Given the description of an element on the screen output the (x, y) to click on. 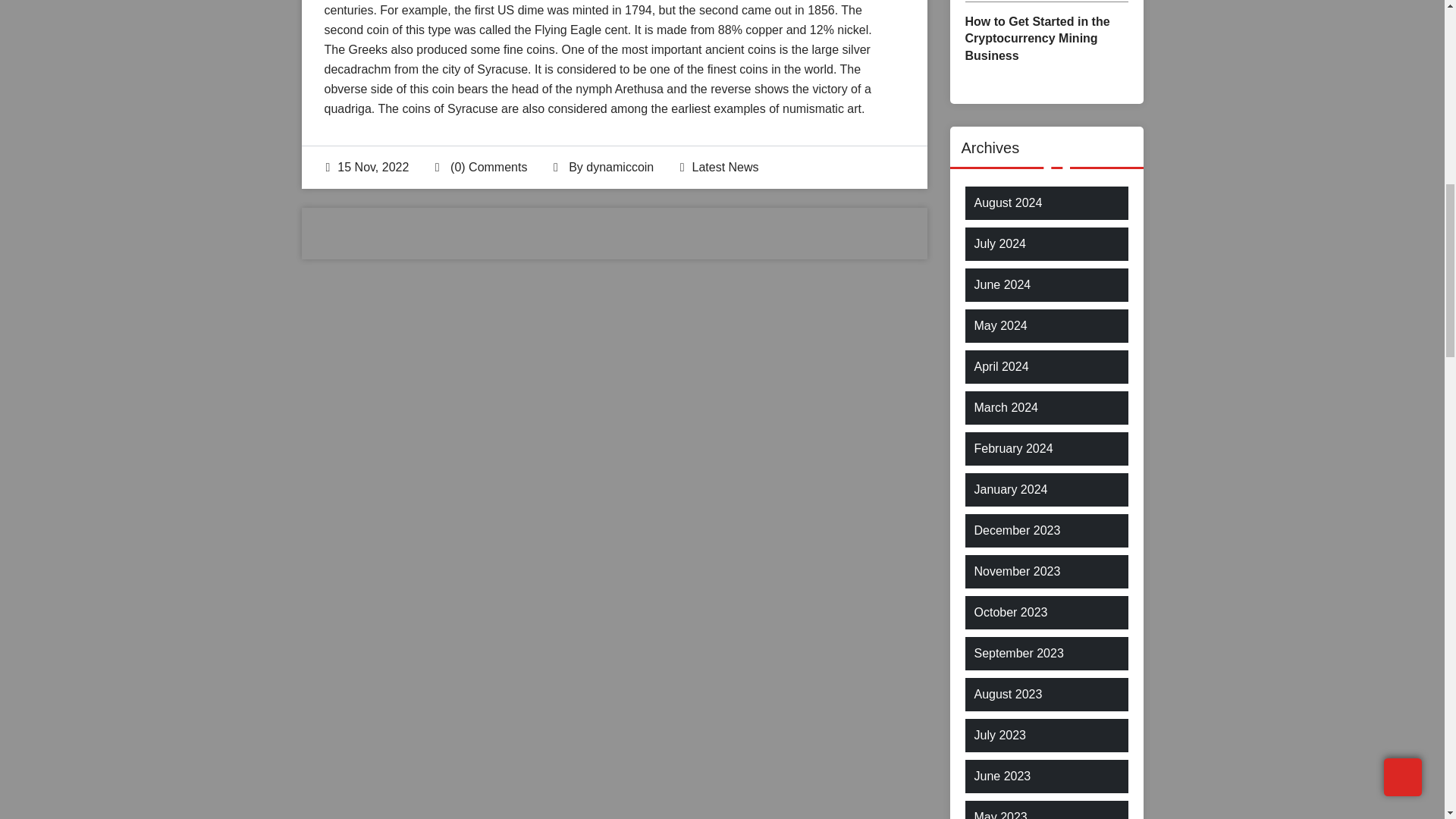
July 2024 (1000, 244)
15 Nov, 2022 (367, 166)
March 2024 (1006, 407)
May 2024 (1000, 325)
June 2024 (1002, 285)
February 2024 (1013, 448)
How to Get Started in the Cryptocurrency Mining Business (1044, 38)
Latest News (725, 166)
May 2023 (1000, 813)
September 2023 (1018, 653)
